Given the description of an element on the screen output the (x, y) to click on. 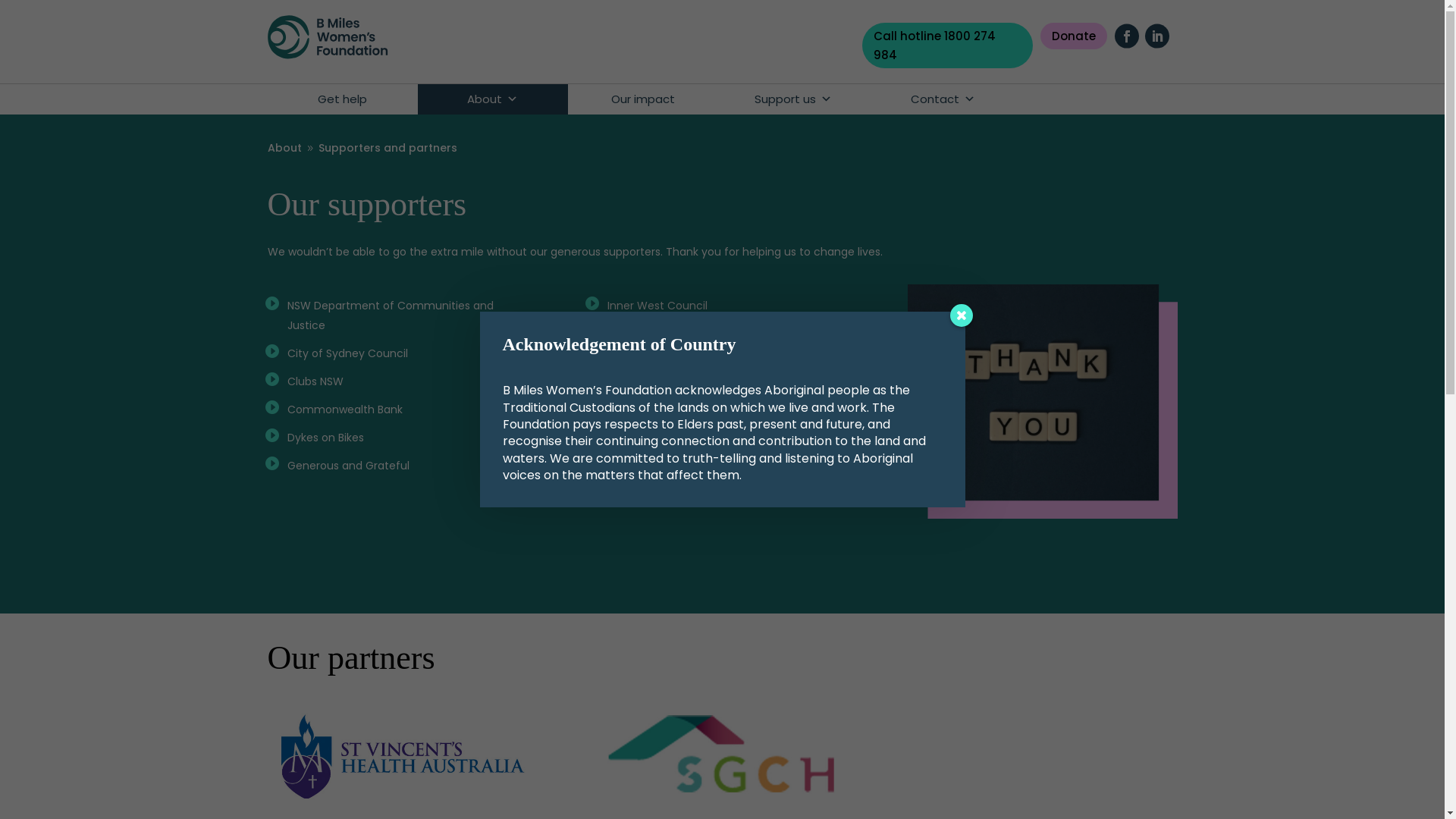
Follow on LinkedIn Element type: hover (1157, 36)
Get help Element type: text (341, 99)
About Element type: text (492, 99)
About Element type: text (283, 147)
Contact Element type: text (942, 99)
Call hotline 1800 274 984 Element type: text (947, 45)
Support us Element type: text (792, 99)
Donate Element type: text (1073, 35)
Follow on Facebook Element type: hover (1126, 36)
Our impact Element type: text (642, 99)
